Given the description of an element on the screen output the (x, y) to click on. 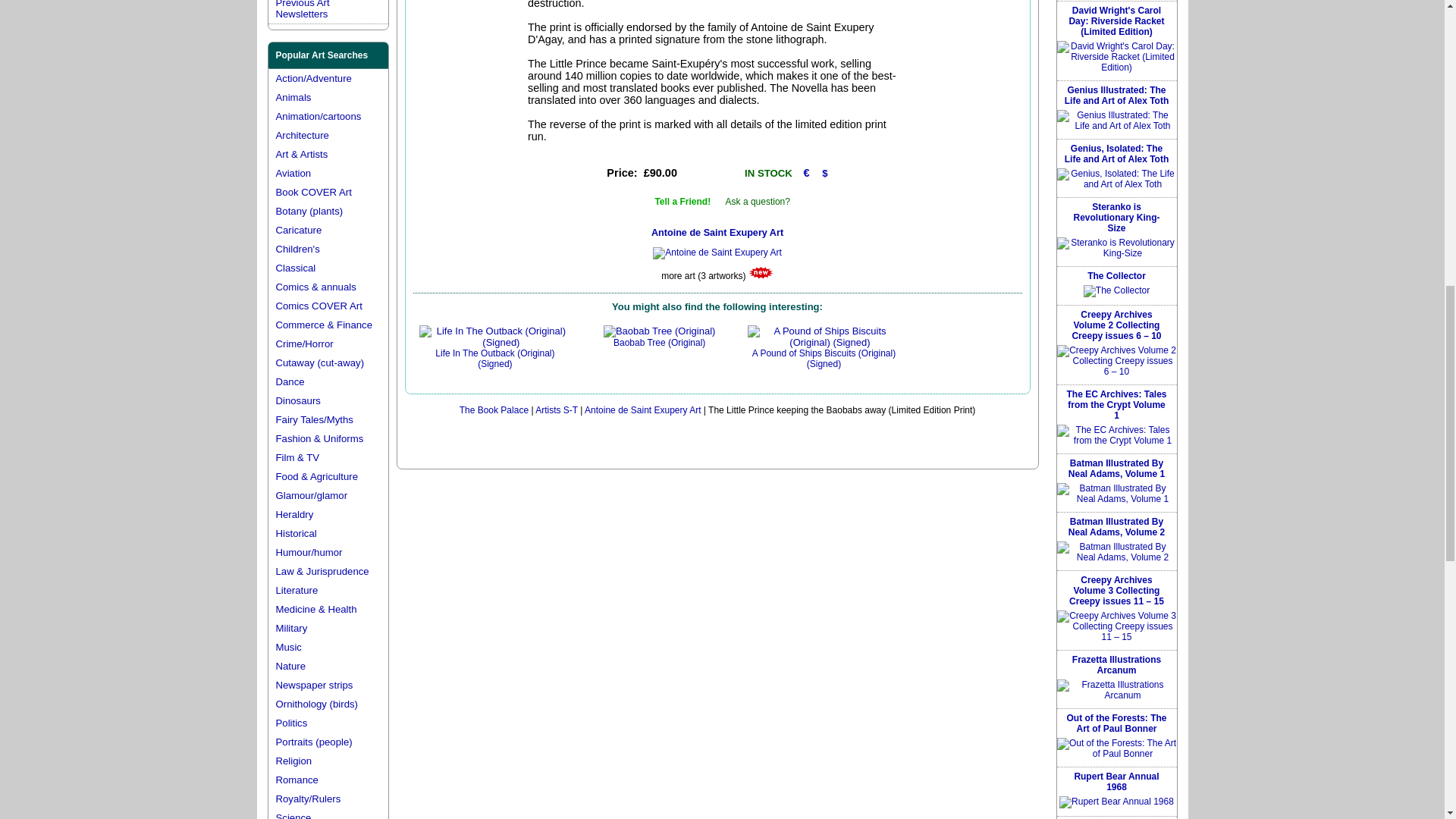
Buy (710, 173)
